Given the description of an element on the screen output the (x, y) to click on. 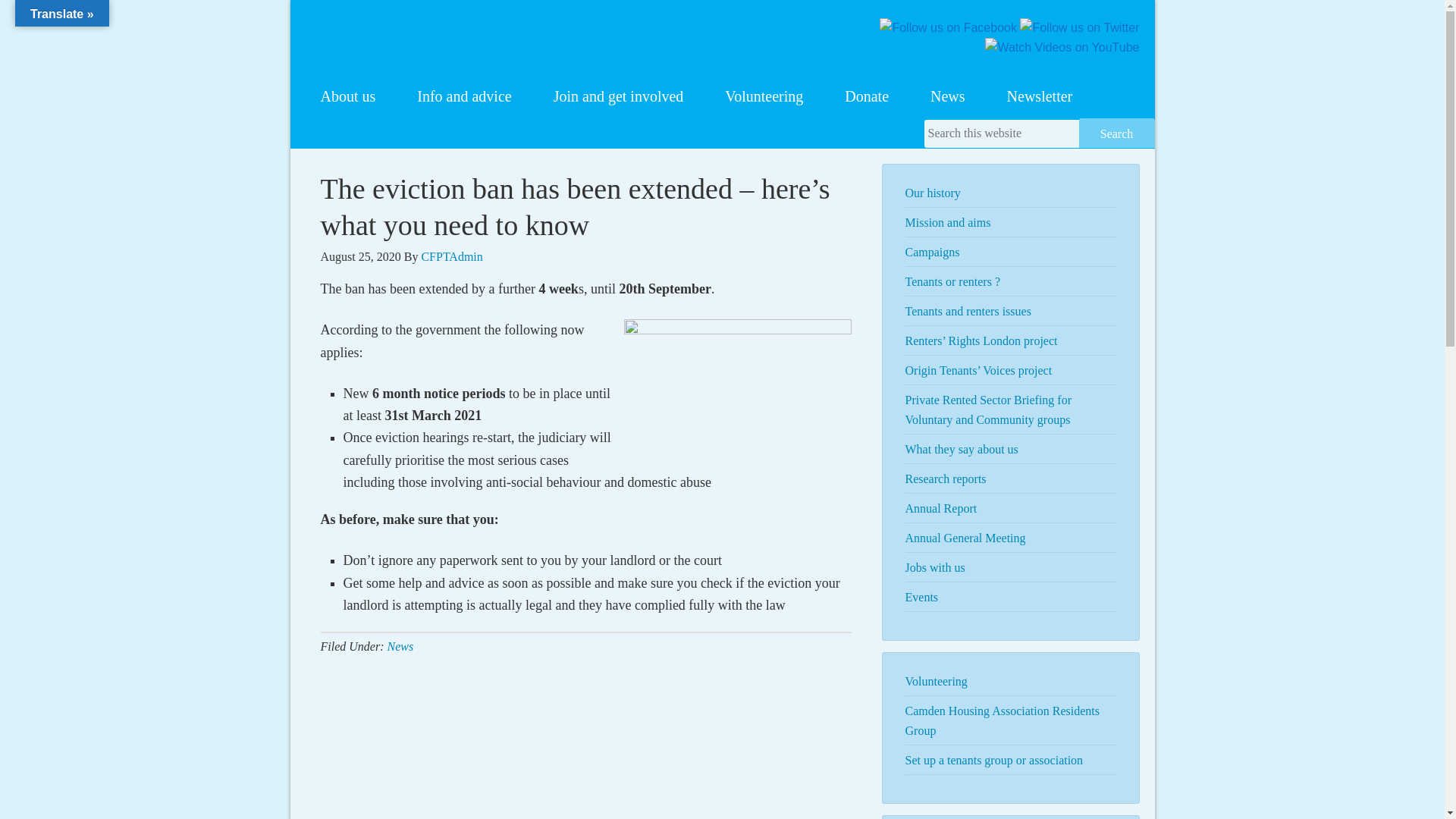
Tenants and renters issues (967, 310)
Search (1116, 133)
About us (347, 96)
Annual Report (940, 508)
Our history (932, 192)
Search (1116, 133)
Research reports (946, 478)
Newsletter (1039, 96)
Donate (865, 96)
